Given the description of an element on the screen output the (x, y) to click on. 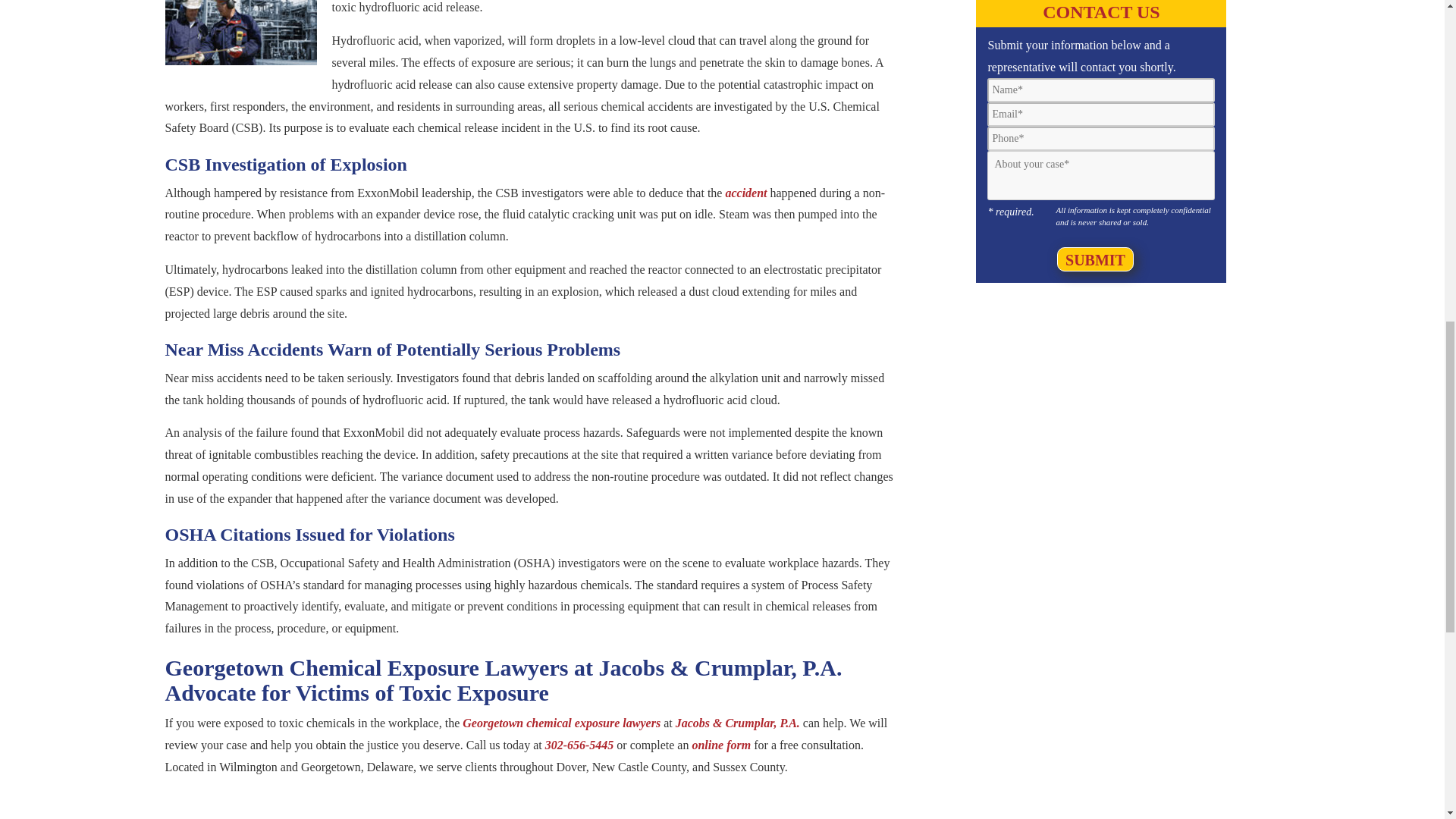
Georgetown Chemical Exposure Lawyers (241, 32)
Submit (1095, 259)
